Given the description of an element on the screen output the (x, y) to click on. 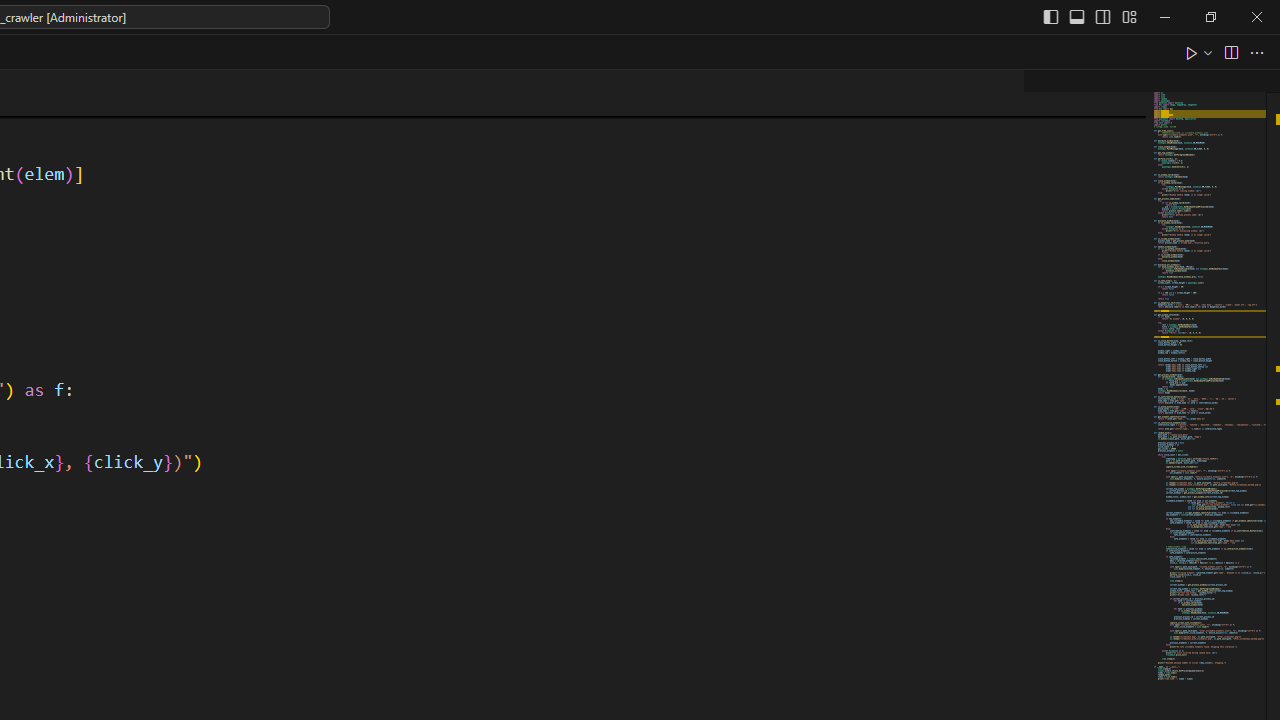
Toggle Panel (Ctrl+J) (1077, 16)
More Actions... (1256, 52)
Split Editor Right (Ctrl+\) [Alt] Split Editor Down (1230, 52)
Title actions (1089, 16)
Run or Debug... (1208, 52)
Editor actions (1226, 52)
Customize Layout... (1128, 16)
Toggle Primary Side Bar (Ctrl+B) (1050, 16)
Run Python File (1192, 52)
Toggle Secondary Side Bar (Ctrl+Alt+B) (1102, 16)
